Given the description of an element on the screen output the (x, y) to click on. 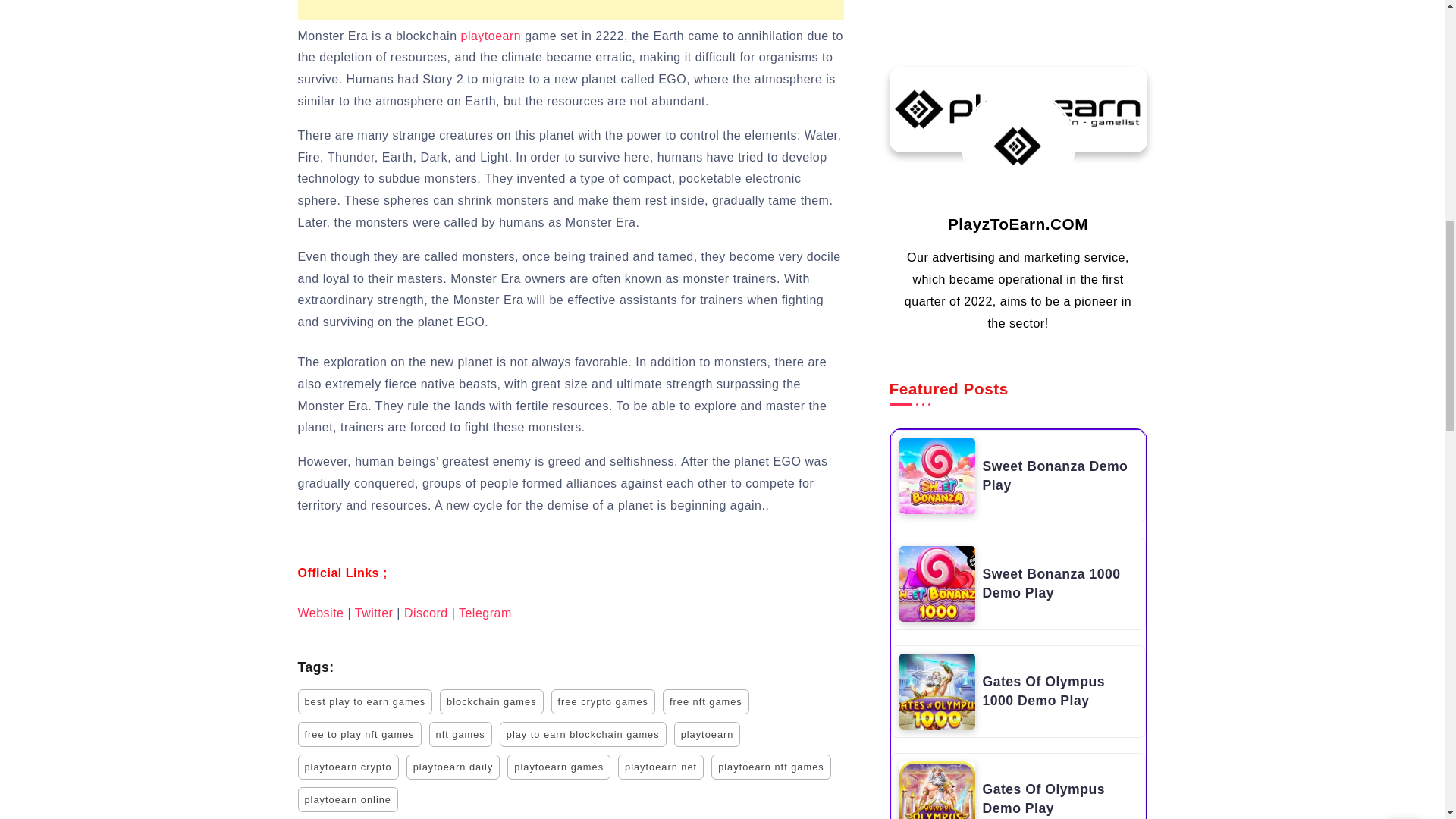
best play to earn games (364, 701)
Telegram (485, 612)
Website (320, 612)
playtoearn (490, 35)
Advertisement (570, 9)
blockchain games (491, 701)
Twitter (374, 612)
free crypto games (603, 701)
Discord (426, 612)
